Given the description of an element on the screen output the (x, y) to click on. 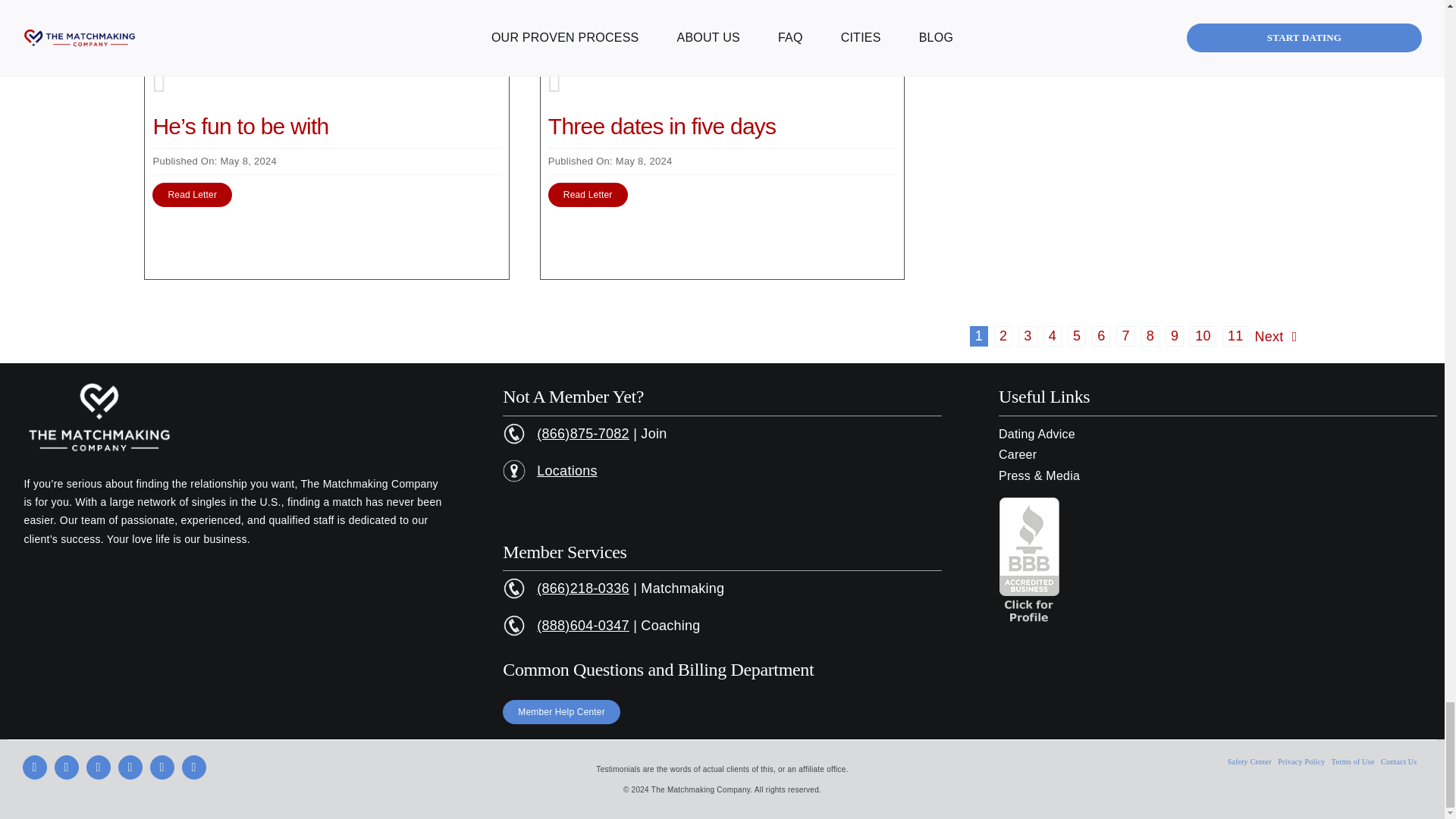
tmmc-arial-logos (98, 418)
